Given the description of an element on the screen output the (x, y) to click on. 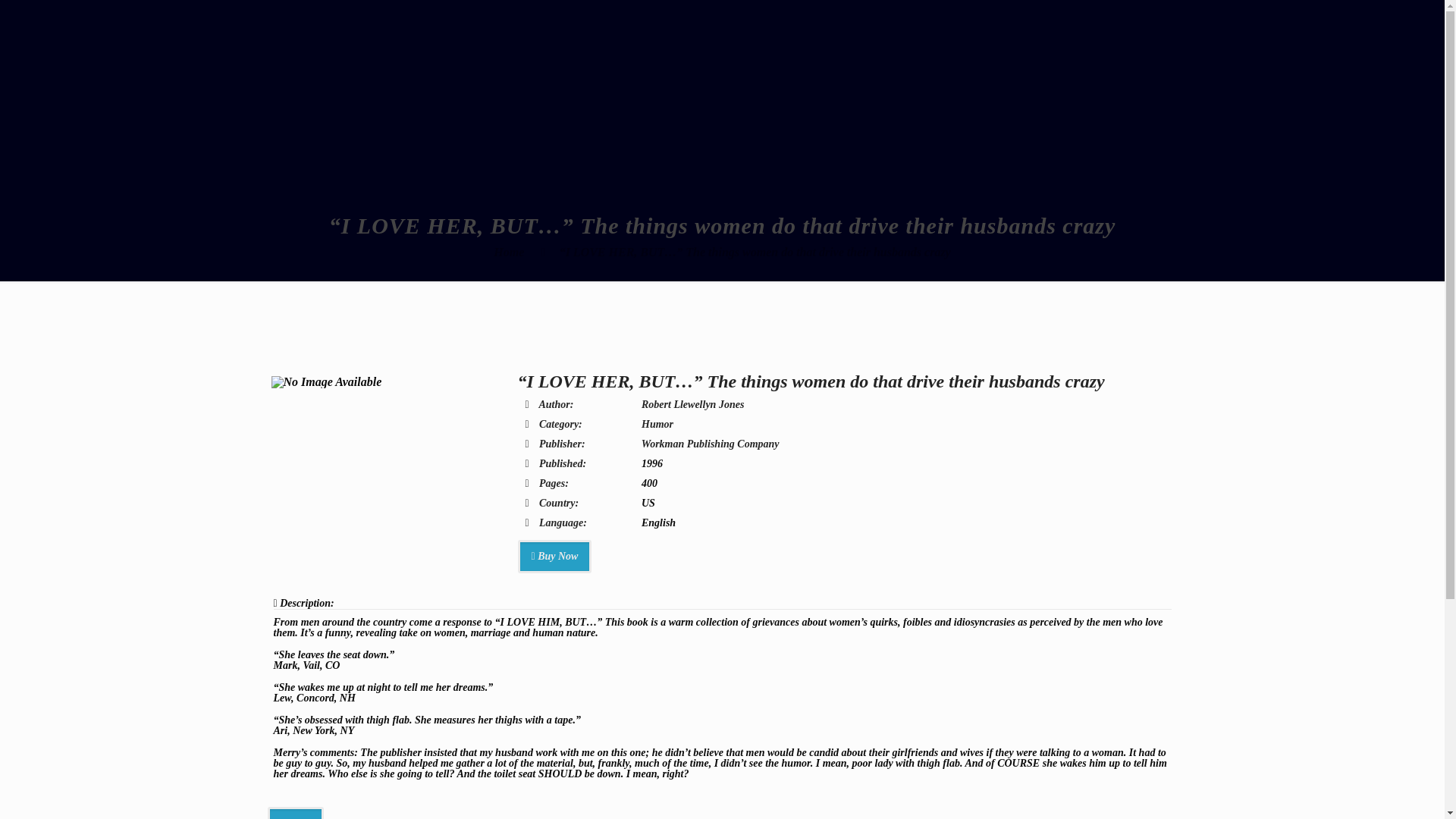
Home (508, 251)
Robert Llewellyn Jones (693, 404)
Workman Publishing Company (710, 443)
 Back (294, 812)
 Buy Now (553, 556)
Humor (657, 423)
